Given the description of an element on the screen output the (x, y) to click on. 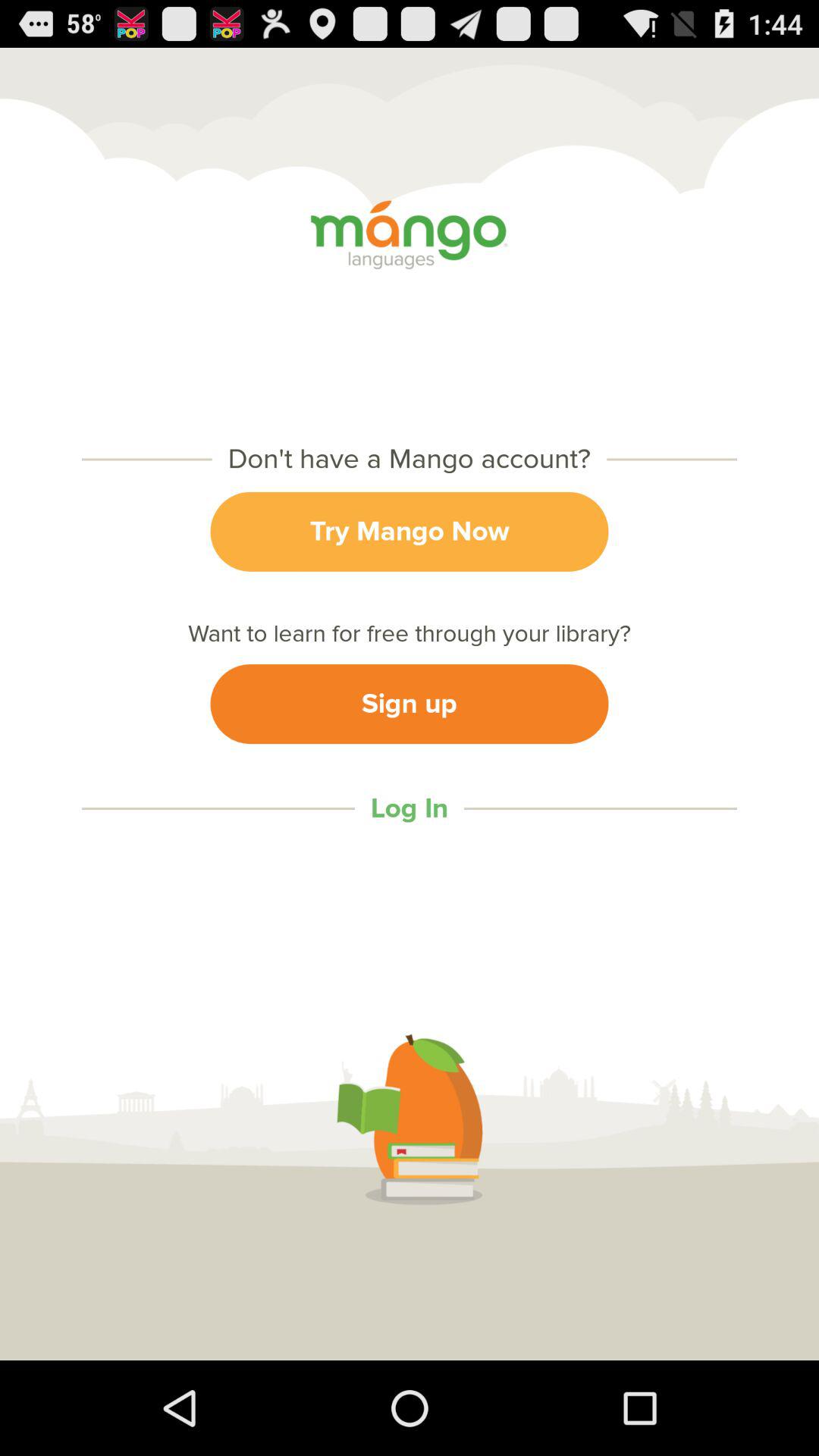
turn off try mango now icon (409, 531)
